Given the description of an element on the screen output the (x, y) to click on. 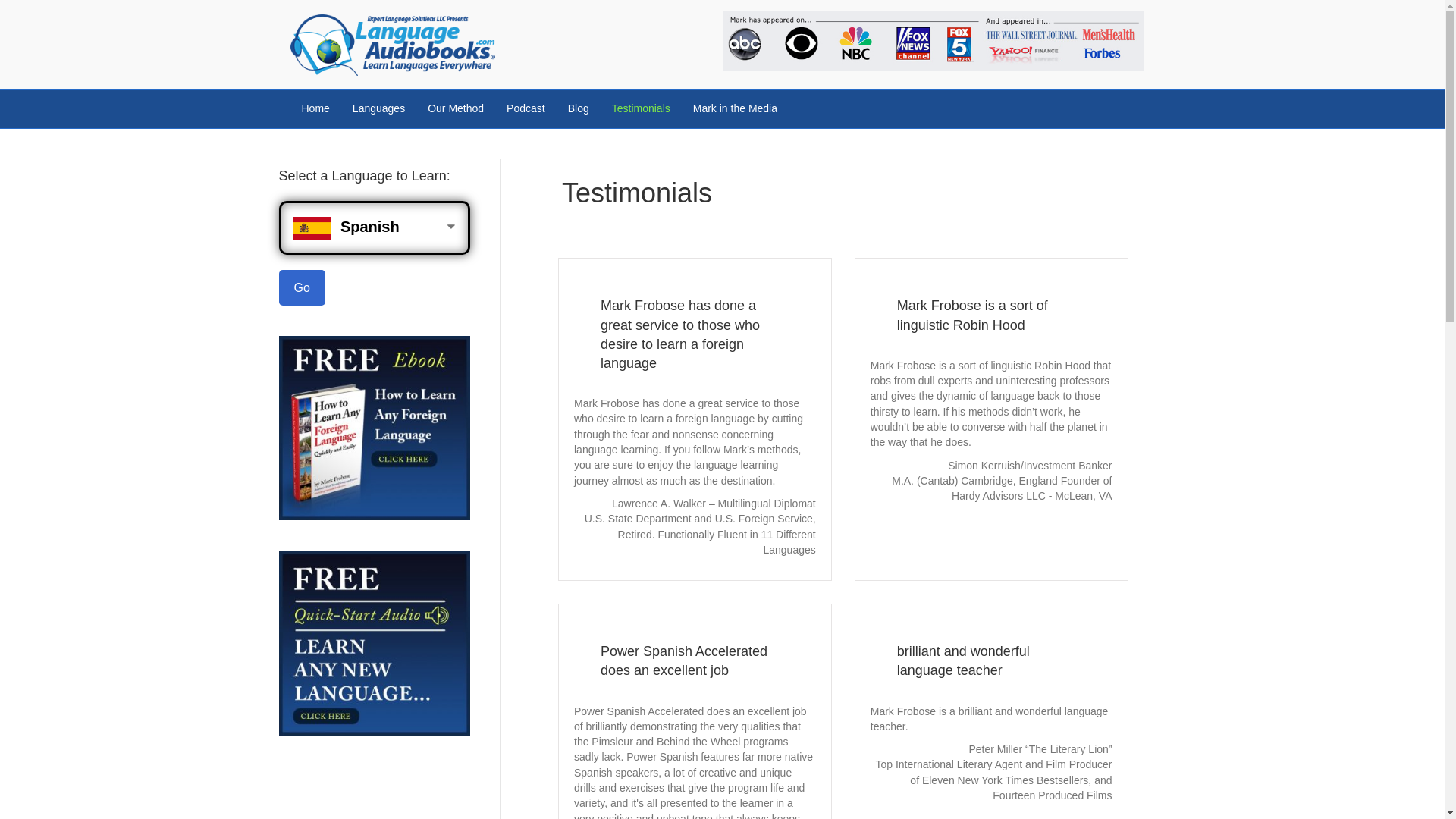
Testimonials (640, 108)
Blog (577, 108)
Home (314, 108)
Languages (378, 108)
Go (301, 287)
Mark in the Media (735, 108)
Podcast (525, 108)
Our Method (455, 108)
